Given the description of an element on the screen output the (x, y) to click on. 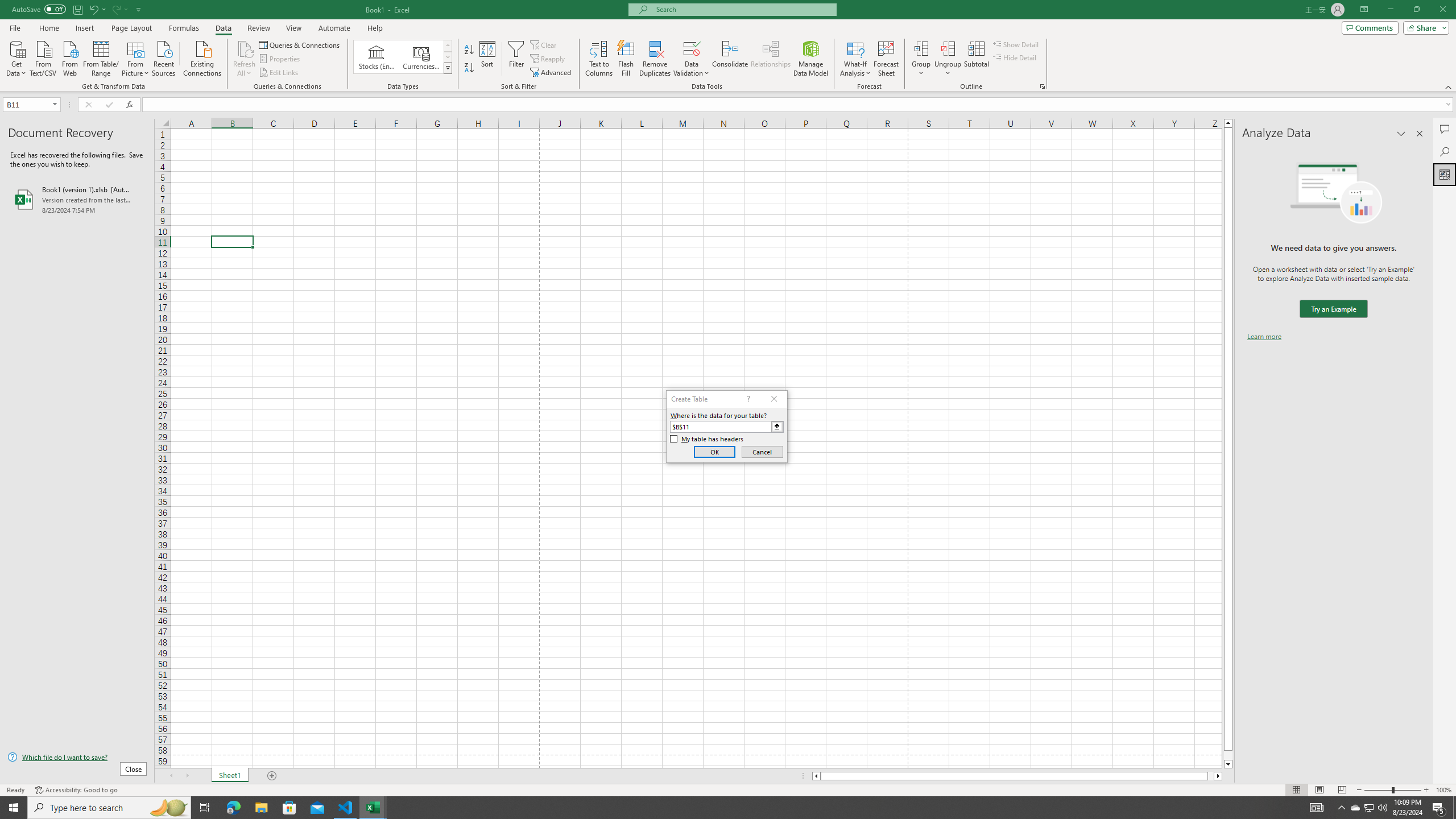
Normal (1296, 790)
Sheet1 (229, 775)
Microsoft search (742, 9)
Filter (515, 58)
Learn more (1264, 336)
Close pane (1419, 133)
Redo (119, 9)
Data (223, 28)
Undo (96, 9)
Column right (1218, 775)
Zoom Out (1377, 790)
Properties (280, 58)
Customize Quick Access Toolbar (139, 9)
Manage Data Model (810, 58)
